Given the description of an element on the screen output the (x, y) to click on. 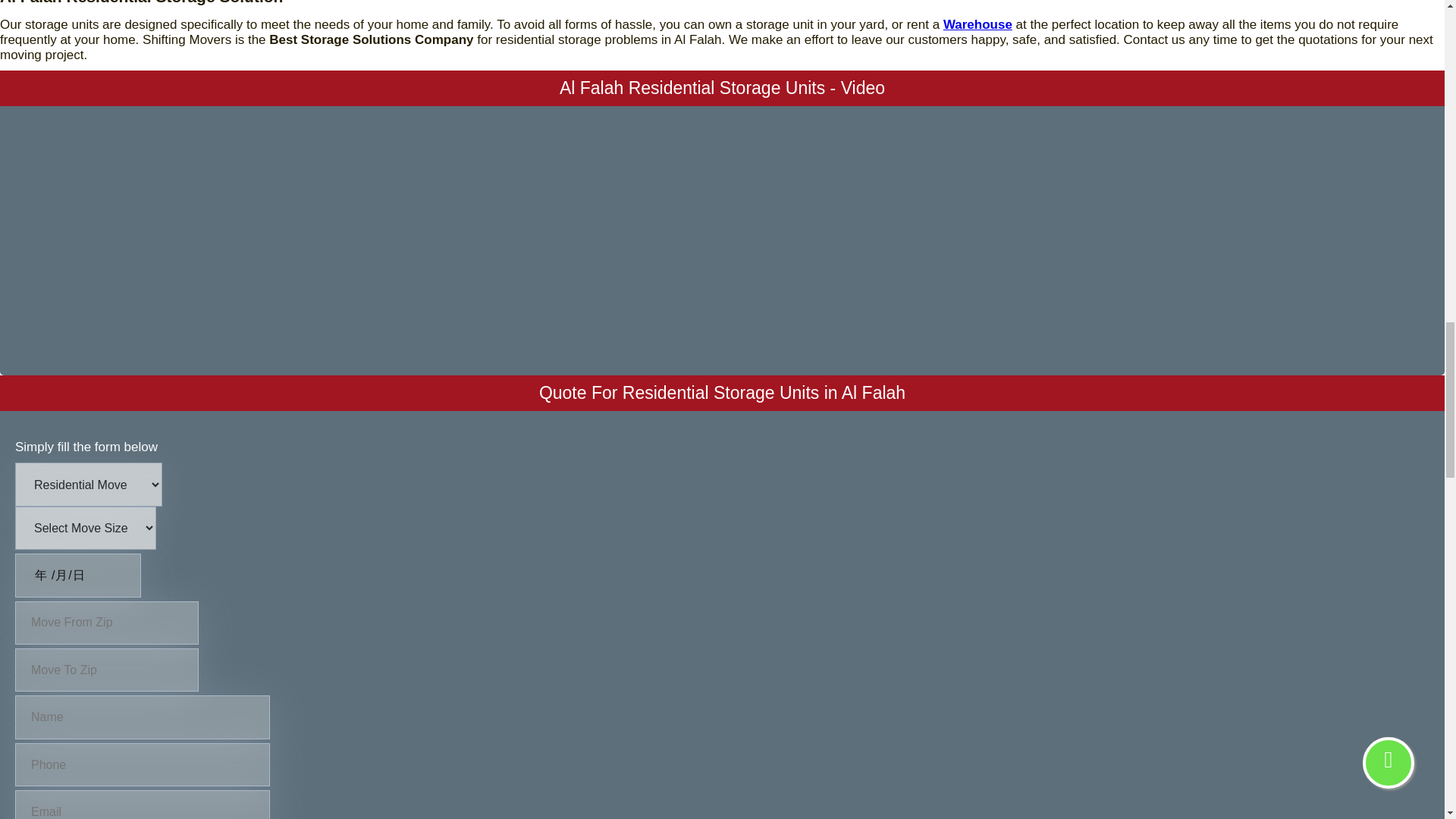
Name Field required (141, 716)
Email Field required (141, 804)
Warehouse (977, 24)
Phone Field required (141, 764)
